Given the description of an element on the screen output the (x, y) to click on. 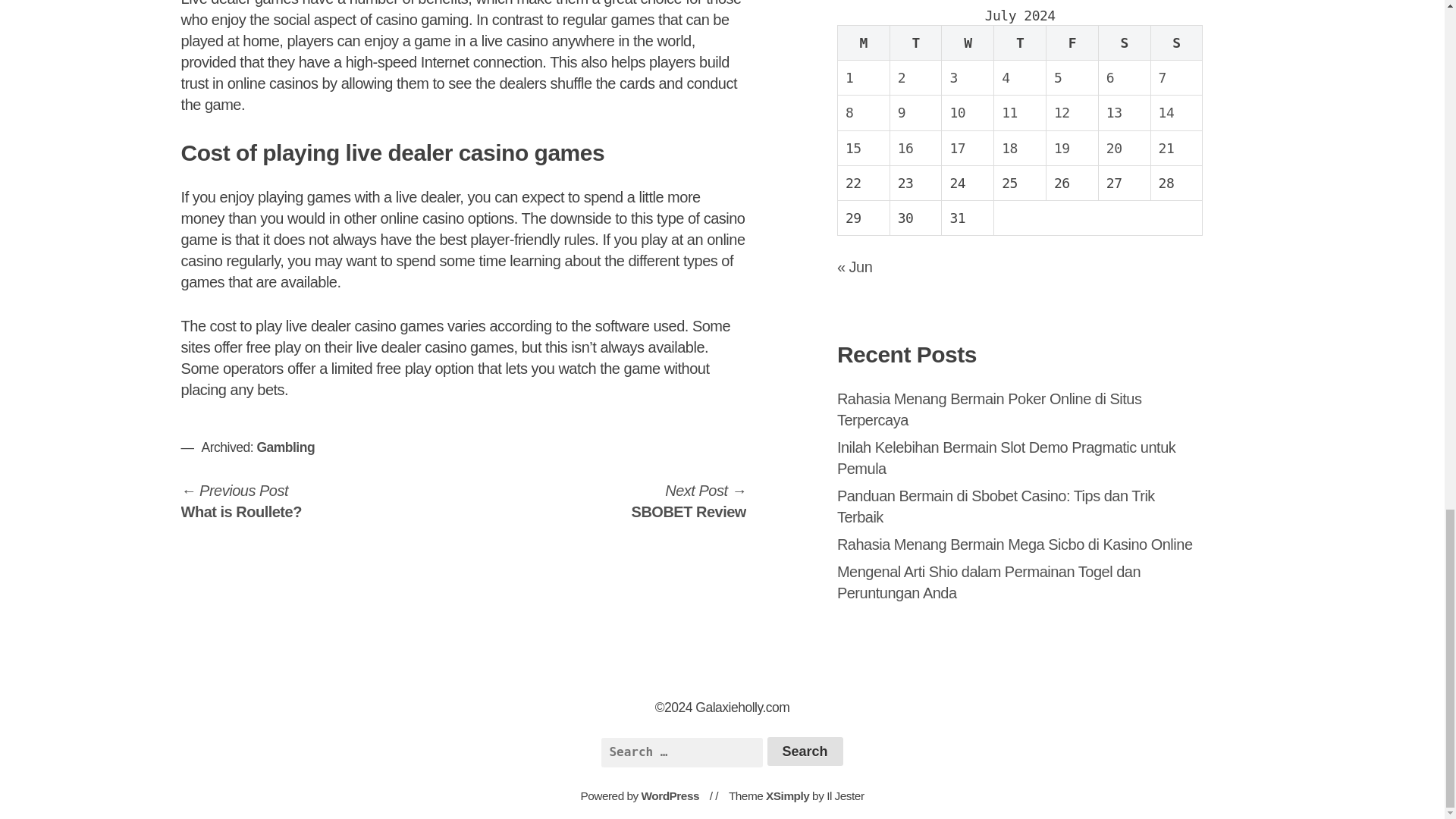
Search (805, 751)
Friday (1072, 42)
Saturday (1123, 42)
Search (805, 751)
Gambling (285, 447)
Thursday (1020, 42)
Wednesday (968, 42)
Sunday (240, 501)
Monday (1176, 42)
Tuesday (688, 501)
